Given the description of an element on the screen output the (x, y) to click on. 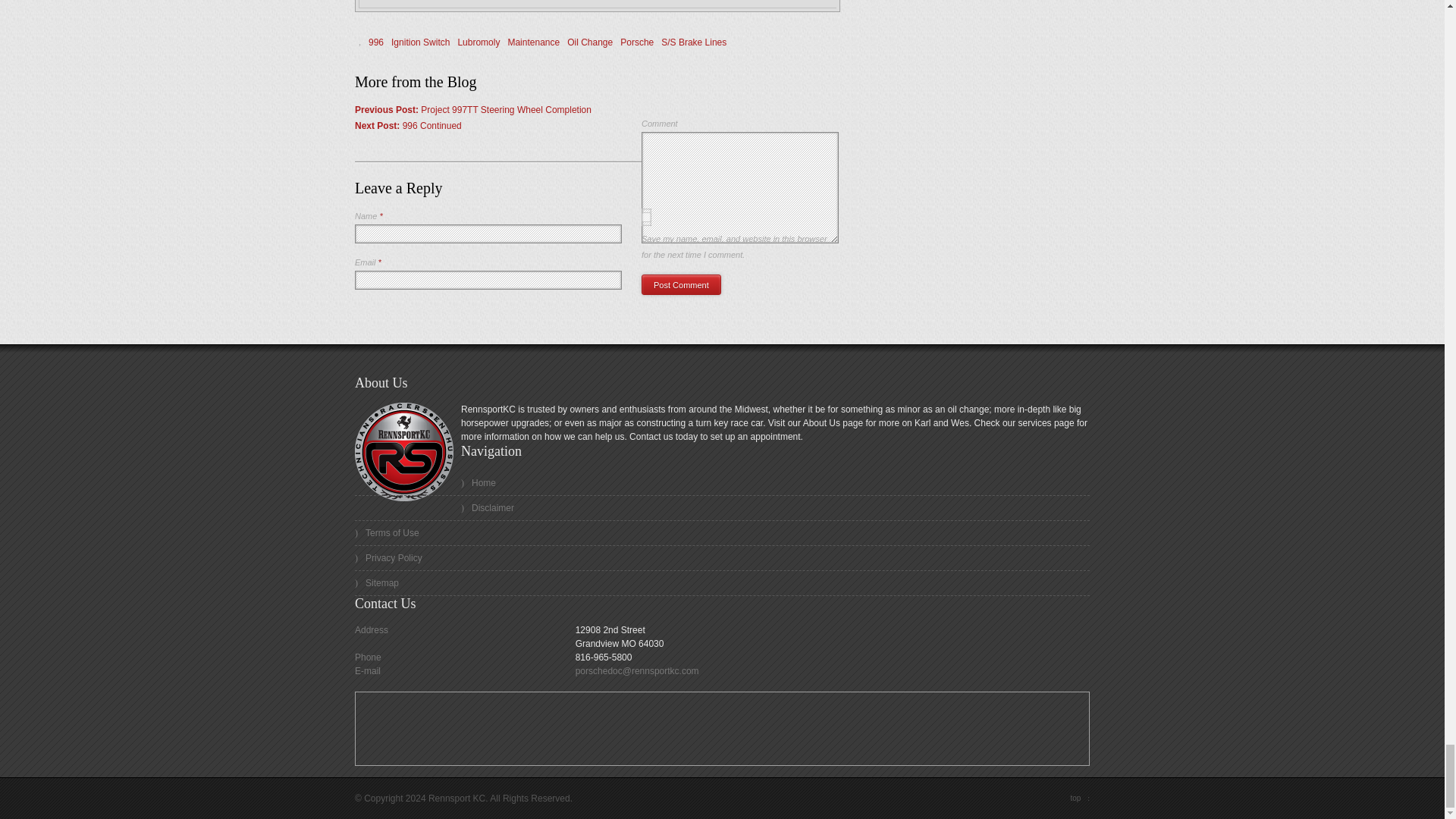
Home (722, 483)
Ignition Switch (420, 41)
Terms of Use (722, 533)
Disclaimer (722, 508)
996 (376, 41)
top : (1079, 798)
Post Comment (681, 284)
Oil Change (589, 41)
Privacy Policy (722, 558)
Next Post: 996 Continued (408, 125)
Sitemap (722, 583)
Maintenance (532, 41)
Previous Post: Project 997TT Steering Wheel Completion (473, 109)
Porsche (636, 41)
Post Comment (681, 284)
